Given the description of an element on the screen output the (x, y) to click on. 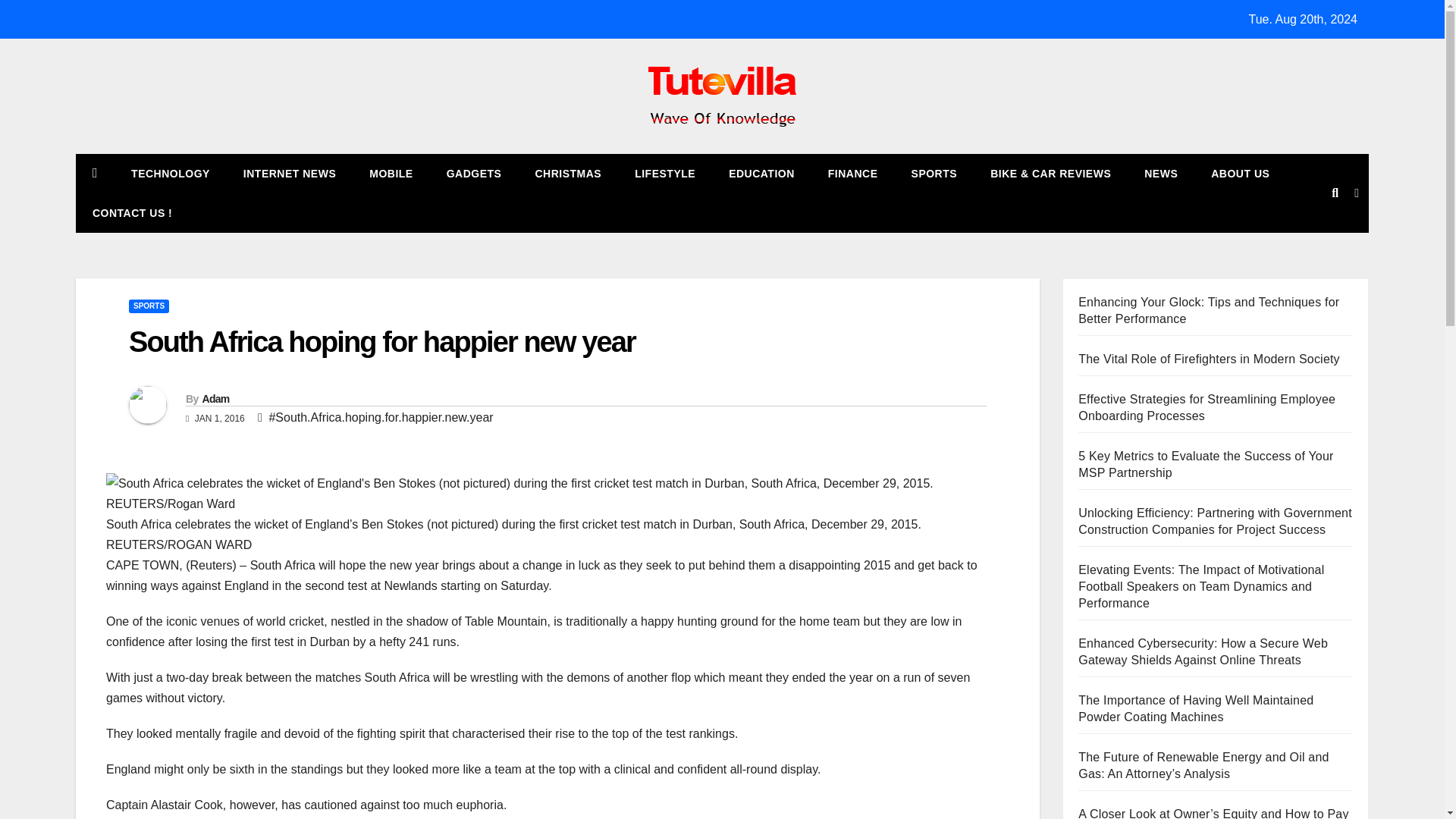
Lifestyle (664, 173)
Gadgets (473, 173)
Adam (215, 398)
EDUCATION (760, 173)
Technology (171, 173)
GADGETS (473, 173)
Contact US ! (132, 212)
FINANCE (852, 173)
christmas (567, 173)
Mobile (390, 173)
